Given the description of an element on the screen output the (x, y) to click on. 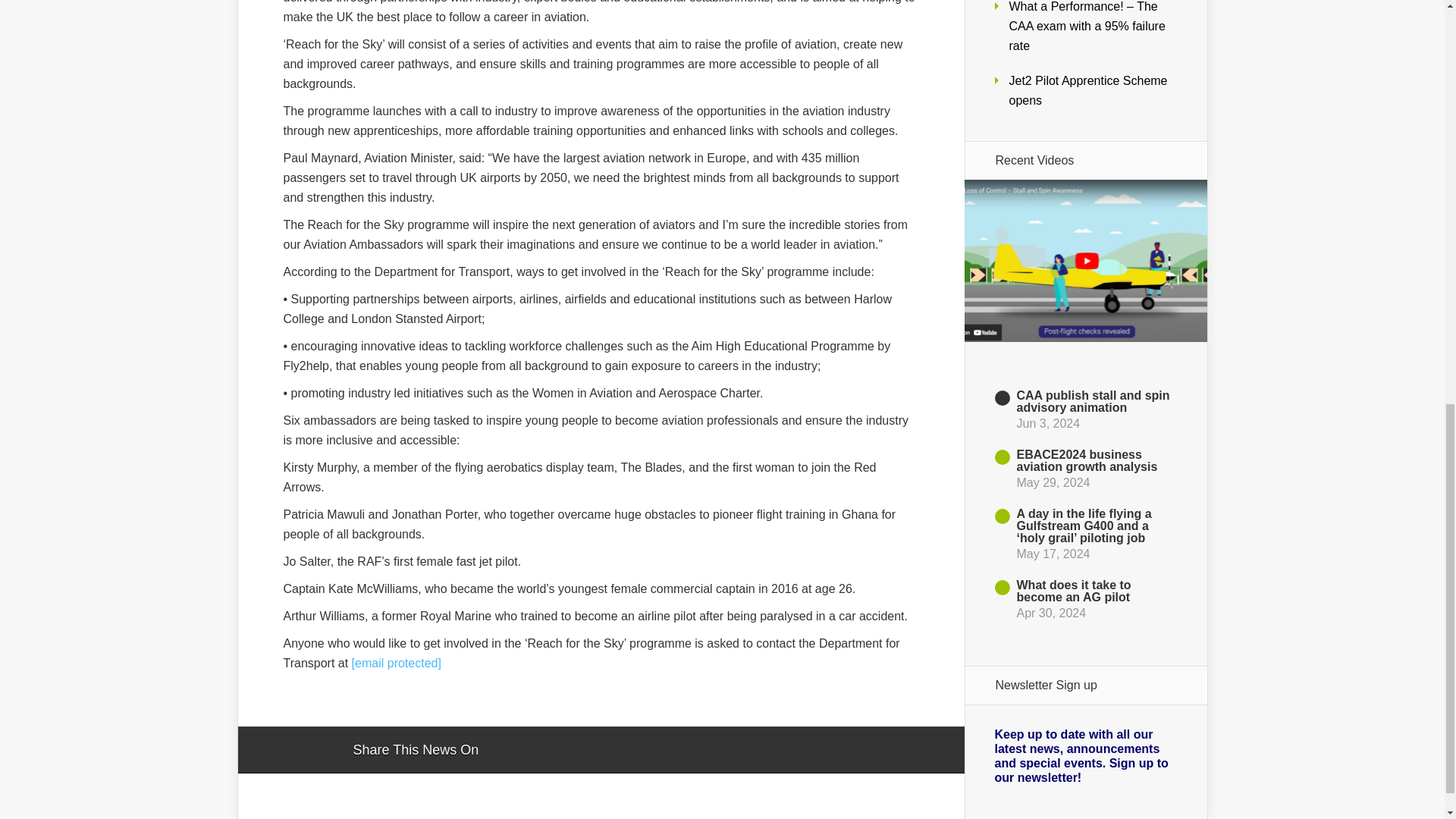
Previous (1085, 351)
Previous (1085, 351)
Next (1085, 654)
Google (504, 750)
Jet2 Pilot Apprentice Scheme opens (1088, 90)
Twitter (563, 750)
Next (1085, 654)
Facebook (534, 750)
